Given the description of an element on the screen output the (x, y) to click on. 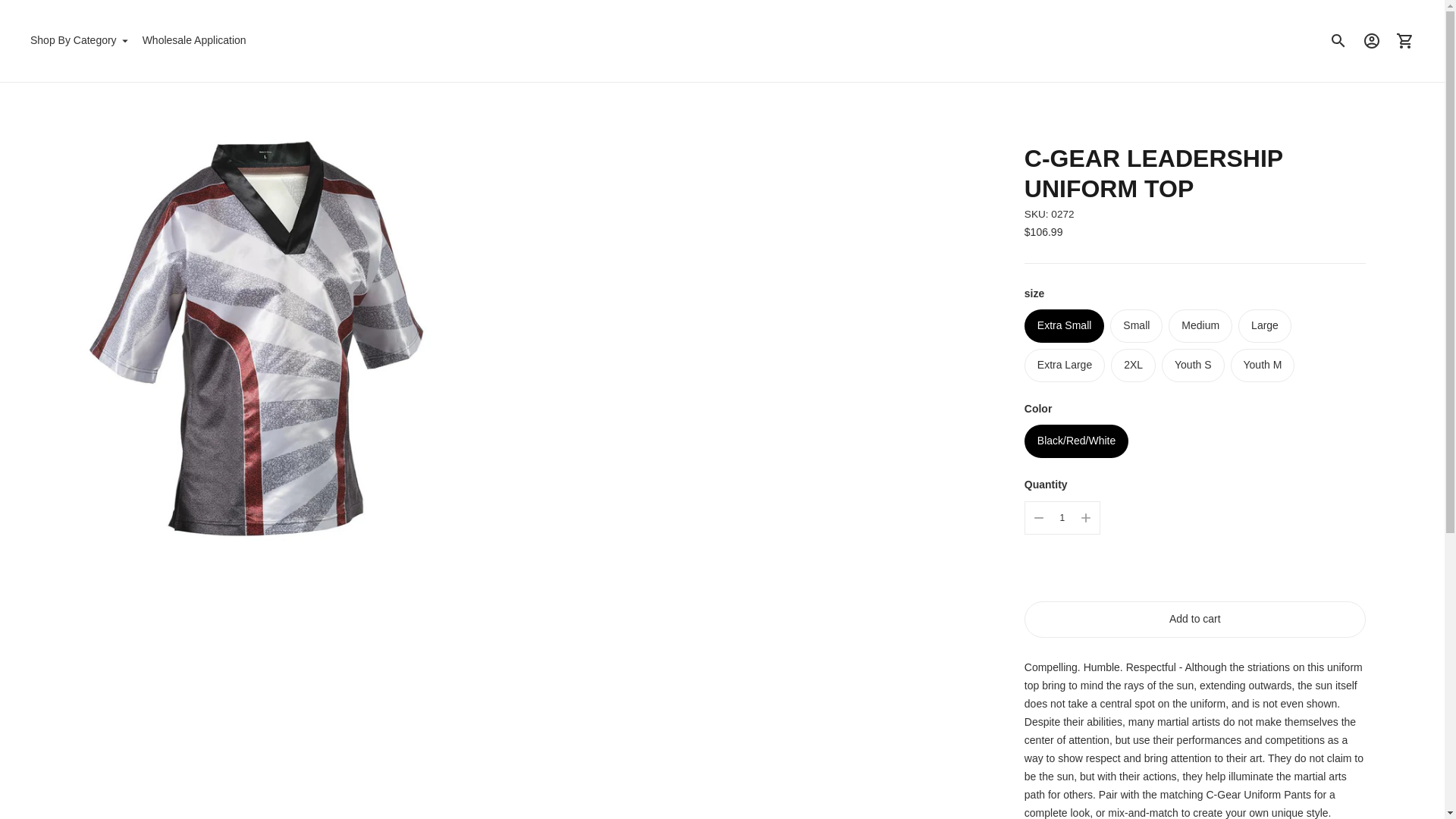
Decrease (1038, 517)
Account (1372, 40)
Cart (1405, 40)
Search (1338, 40)
1 (1061, 517)
Shop By Category (79, 40)
Increase (1085, 517)
